Given the description of an element on the screen output the (x, y) to click on. 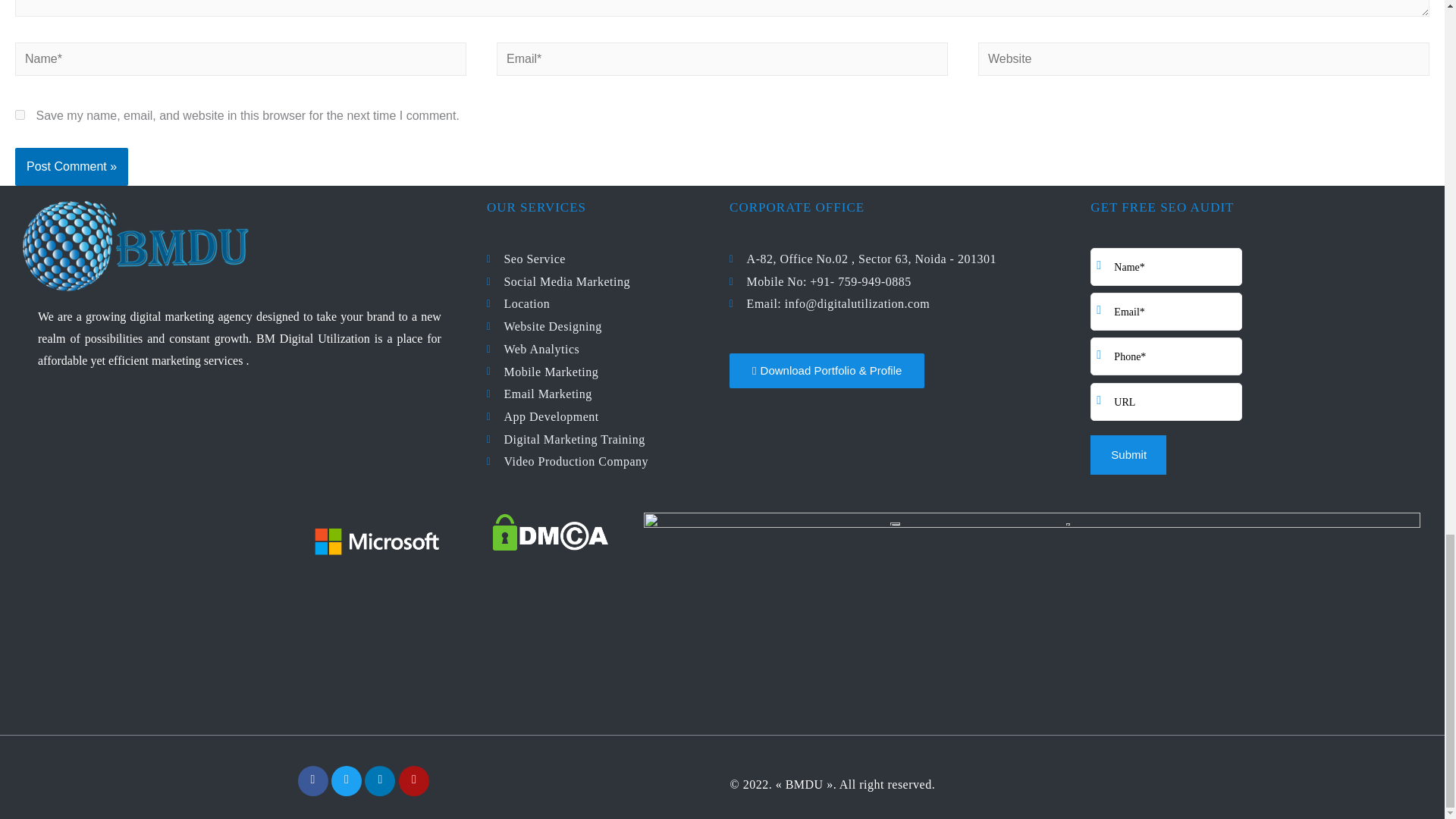
Submit (1128, 454)
yes (19, 114)
